Given the description of an element on the screen output the (x, y) to click on. 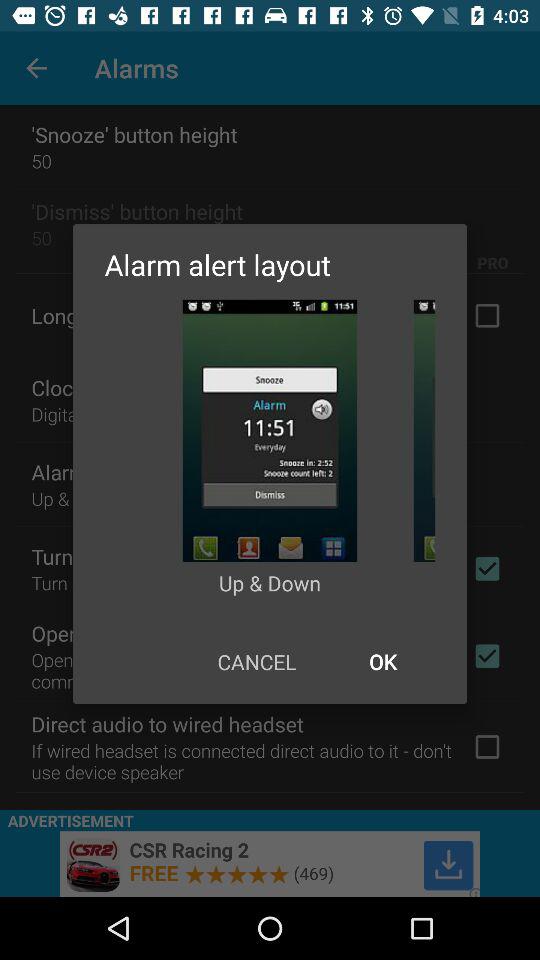
click ok icon (382, 661)
